Given the description of an element on the screen output the (x, y) to click on. 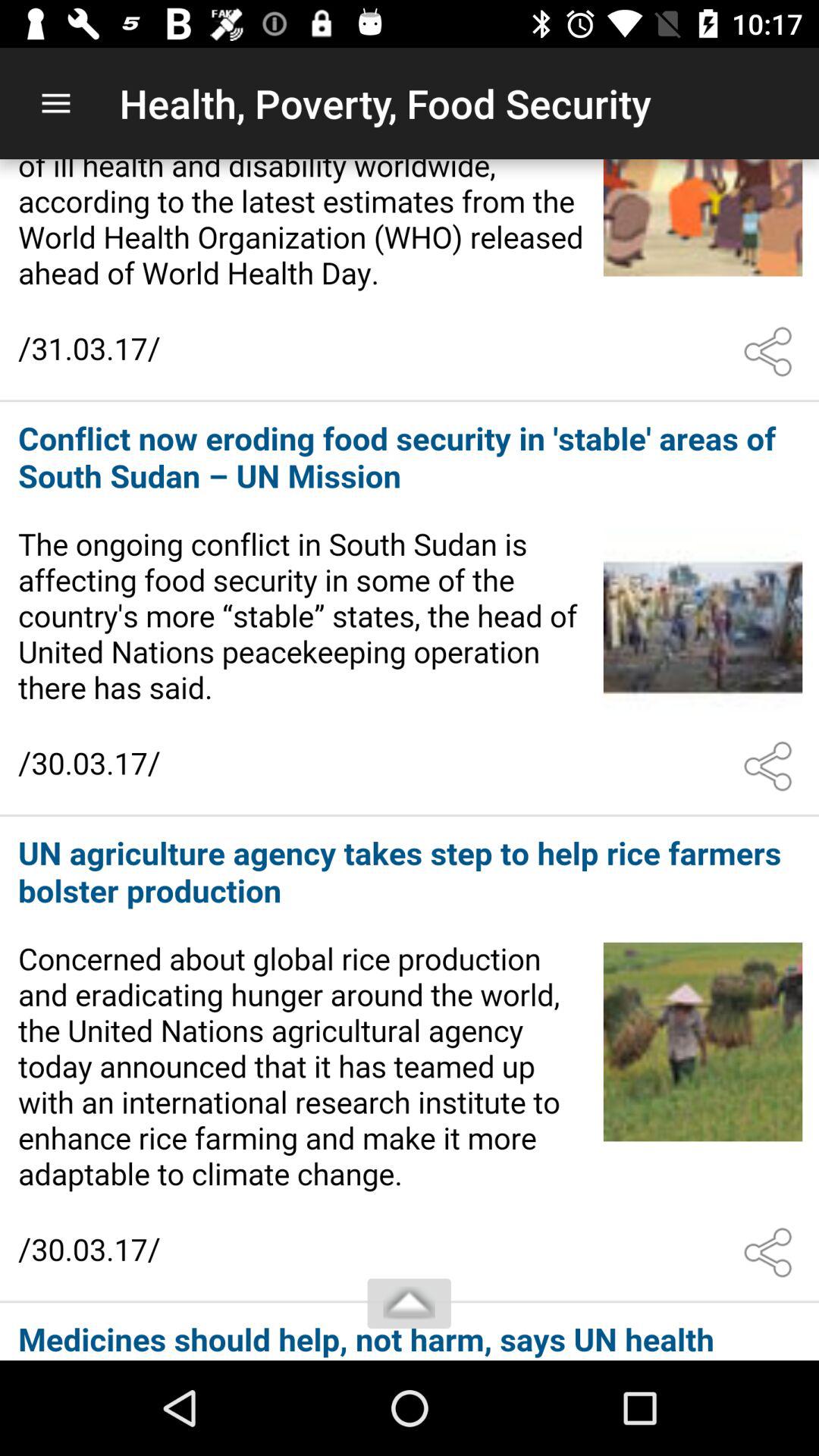
share the article (771, 1252)
